Given the description of an element on the screen output the (x, y) to click on. 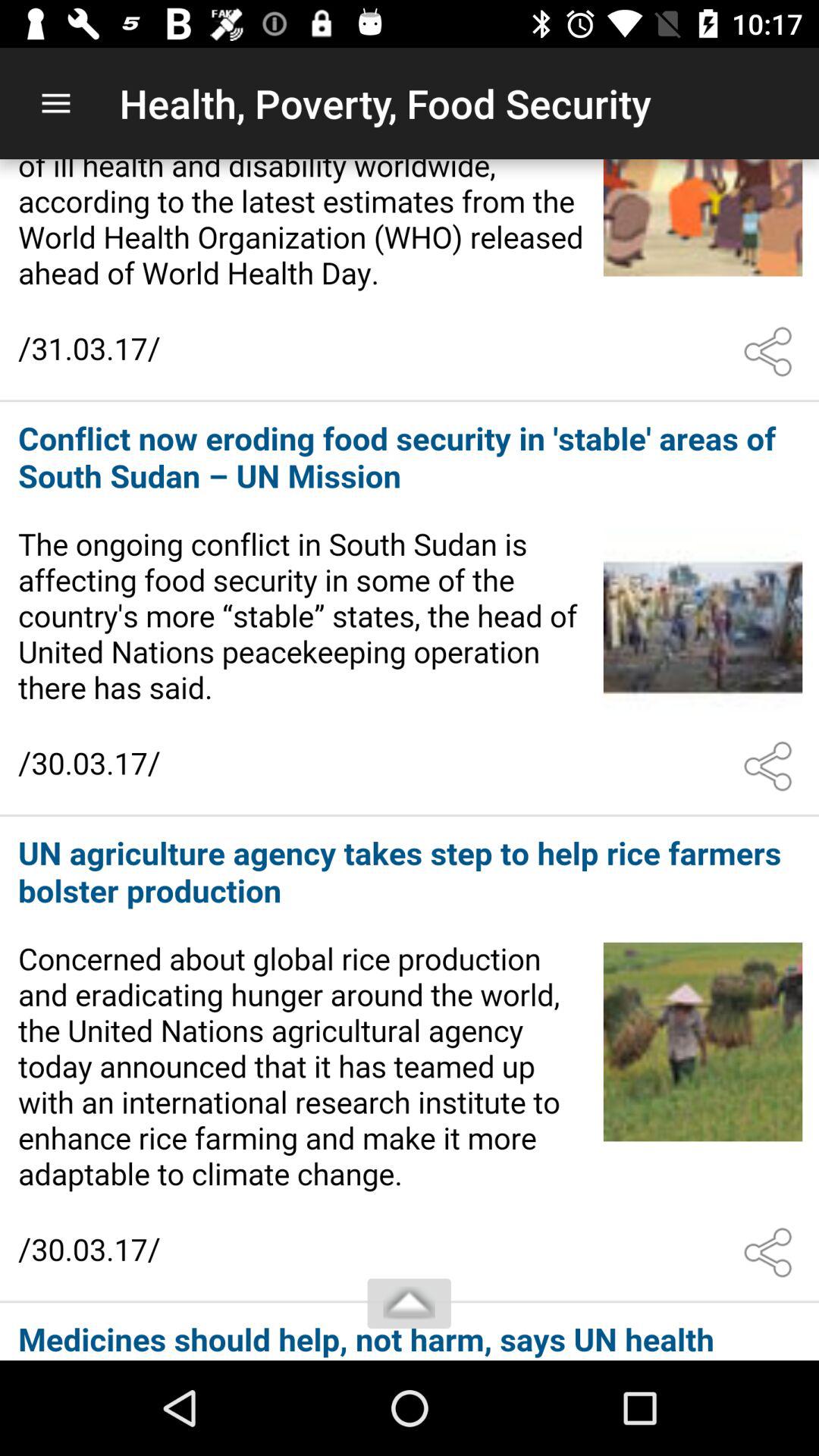
share the article (771, 1252)
